Given the description of an element on the screen output the (x, y) to click on. 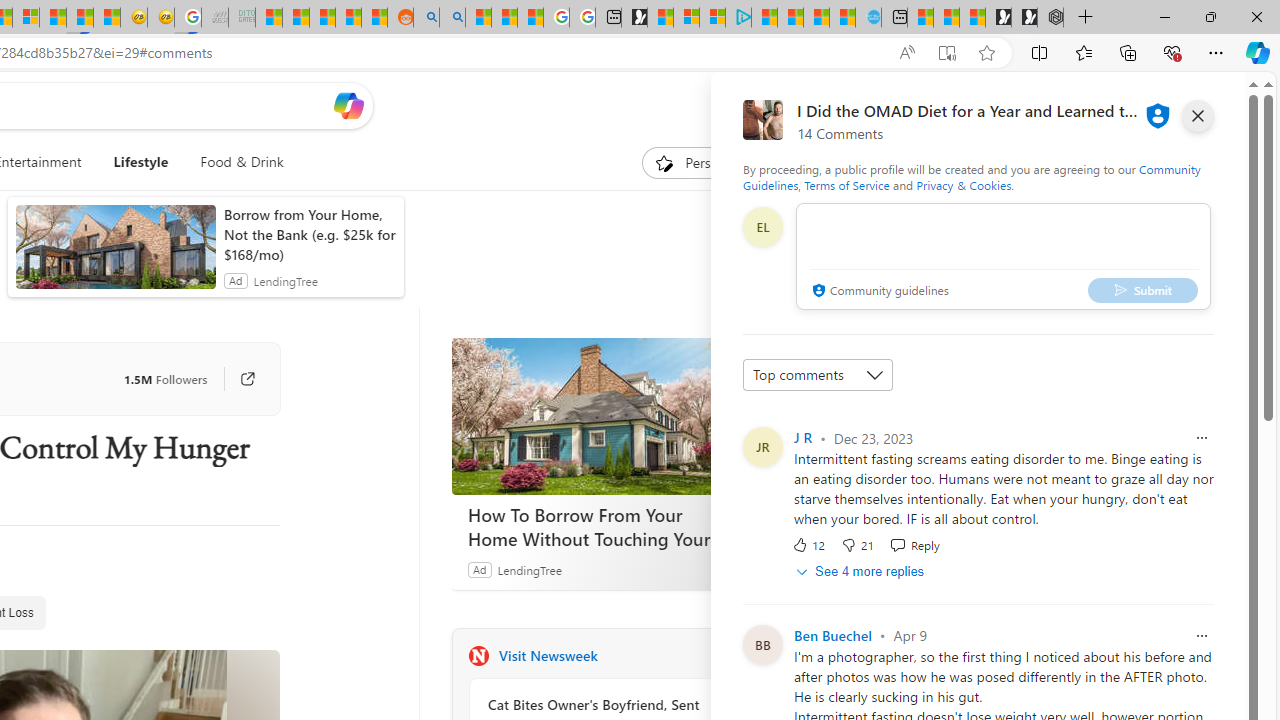
Community guidelines (878, 291)
J R (802, 437)
Terms of Service (846, 184)
Go to publisher's site (237, 378)
